Given the description of an element on the screen output the (x, y) to click on. 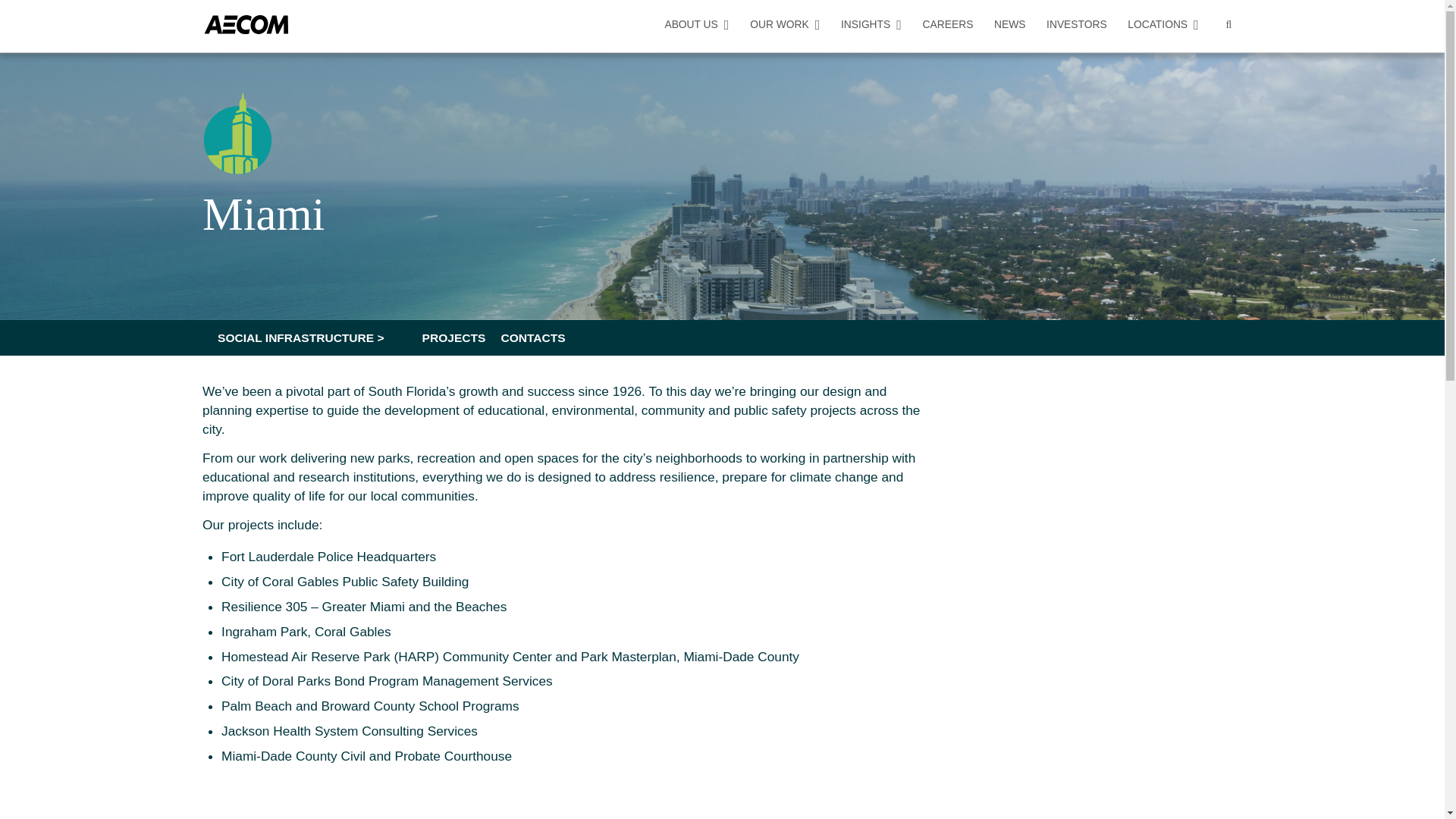
OUR WORK (784, 24)
NEWS (1009, 24)
LOCATIONS (1162, 24)
INVESTORS (1076, 24)
CAREERS (948, 24)
ABOUT US (696, 24)
INSIGHTS (871, 24)
